Given the description of an element on the screen output the (x, y) to click on. 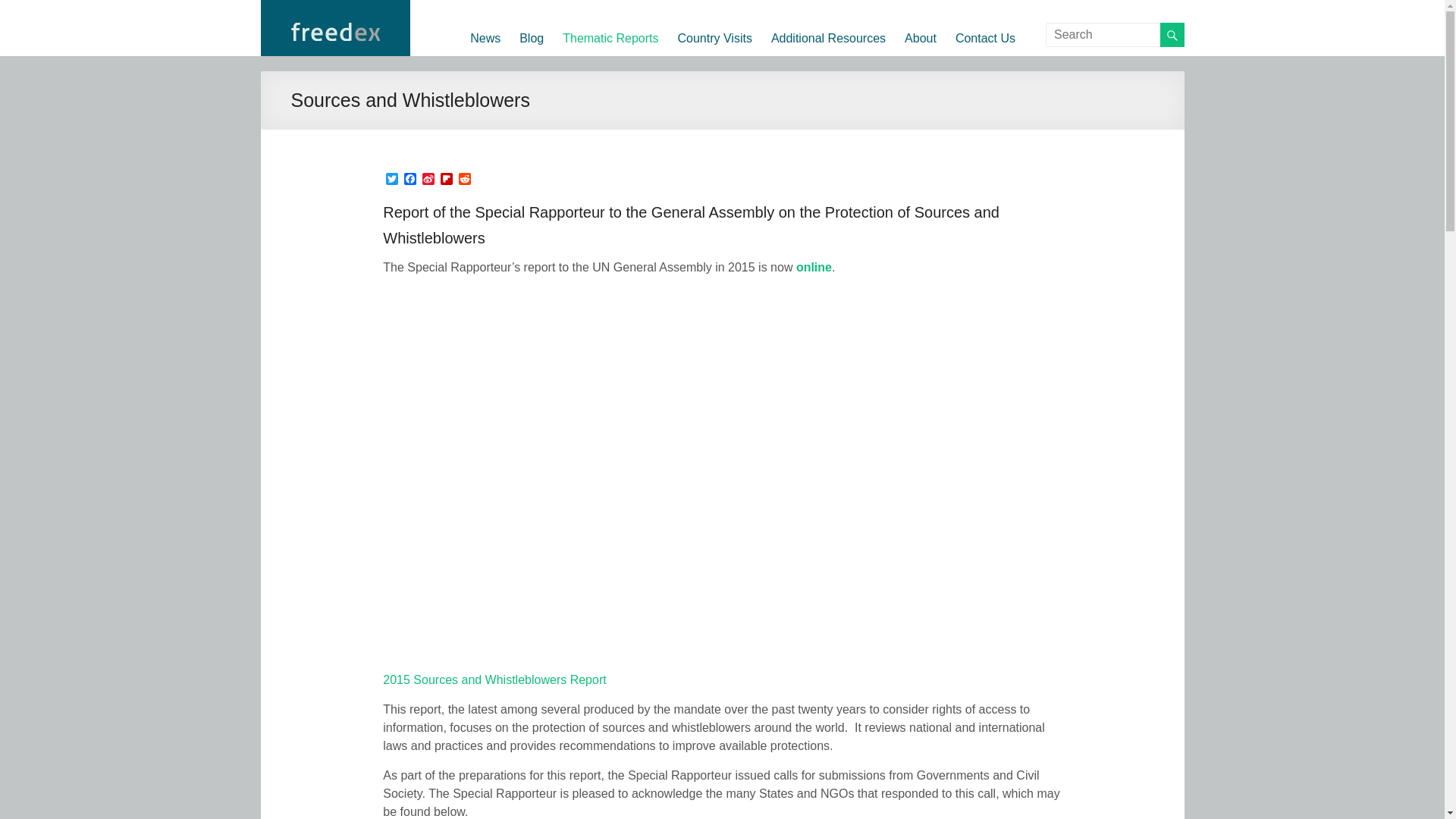
Twitter (391, 179)
Reddit (464, 179)
About (920, 36)
Thematic Reports (610, 36)
Additional Resources (828, 36)
Flipboard (446, 179)
Blog (531, 36)
Freedex (459, 20)
Sina Weibo (428, 179)
News (485, 36)
Country Visits (714, 36)
Twitter (391, 179)
Freedex (459, 20)
Facebook (410, 179)
